Given the description of an element on the screen output the (x, y) to click on. 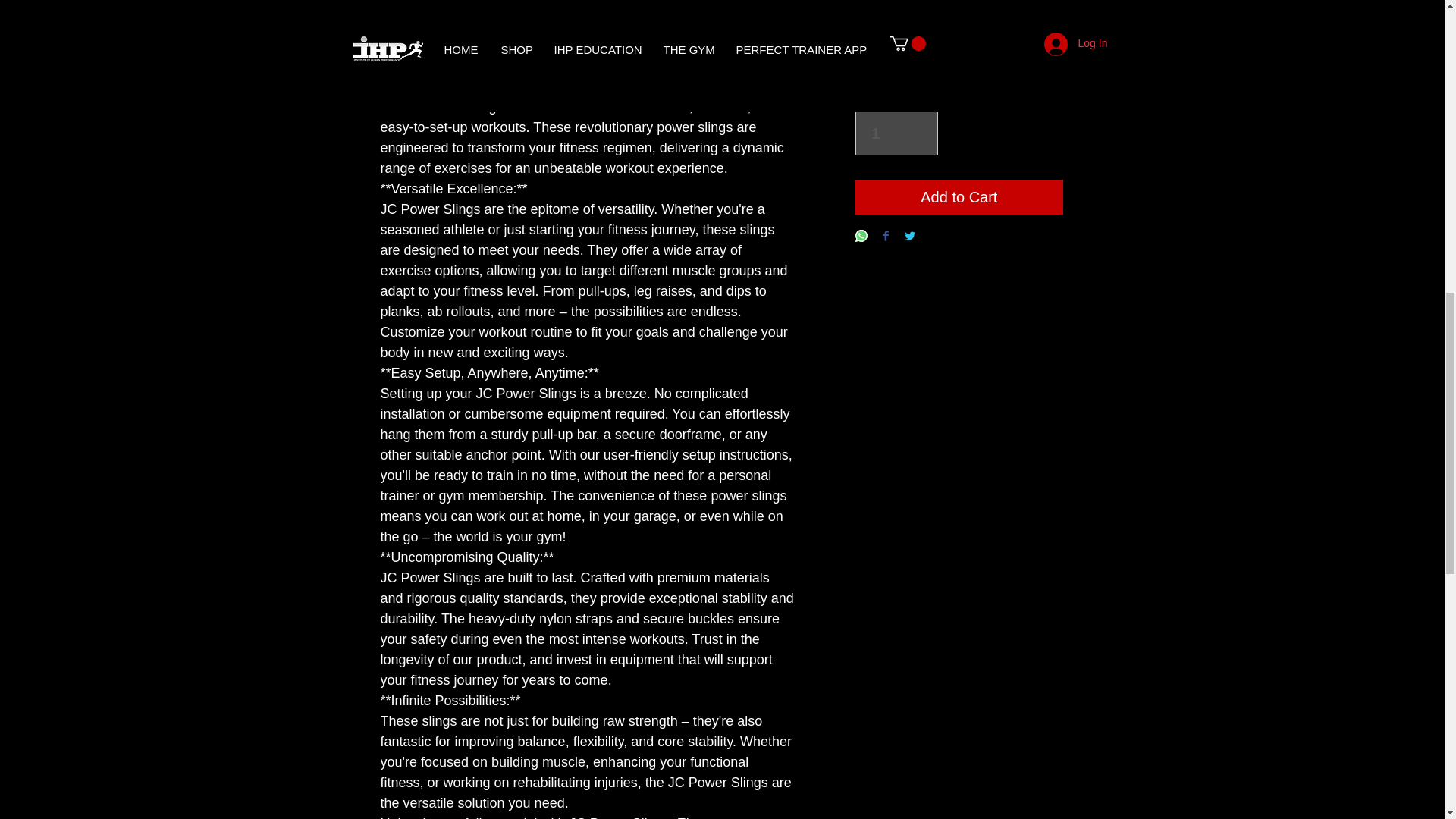
1 (896, 133)
Select (959, 55)
Add to Cart (959, 196)
